Given the description of an element on the screen output the (x, y) to click on. 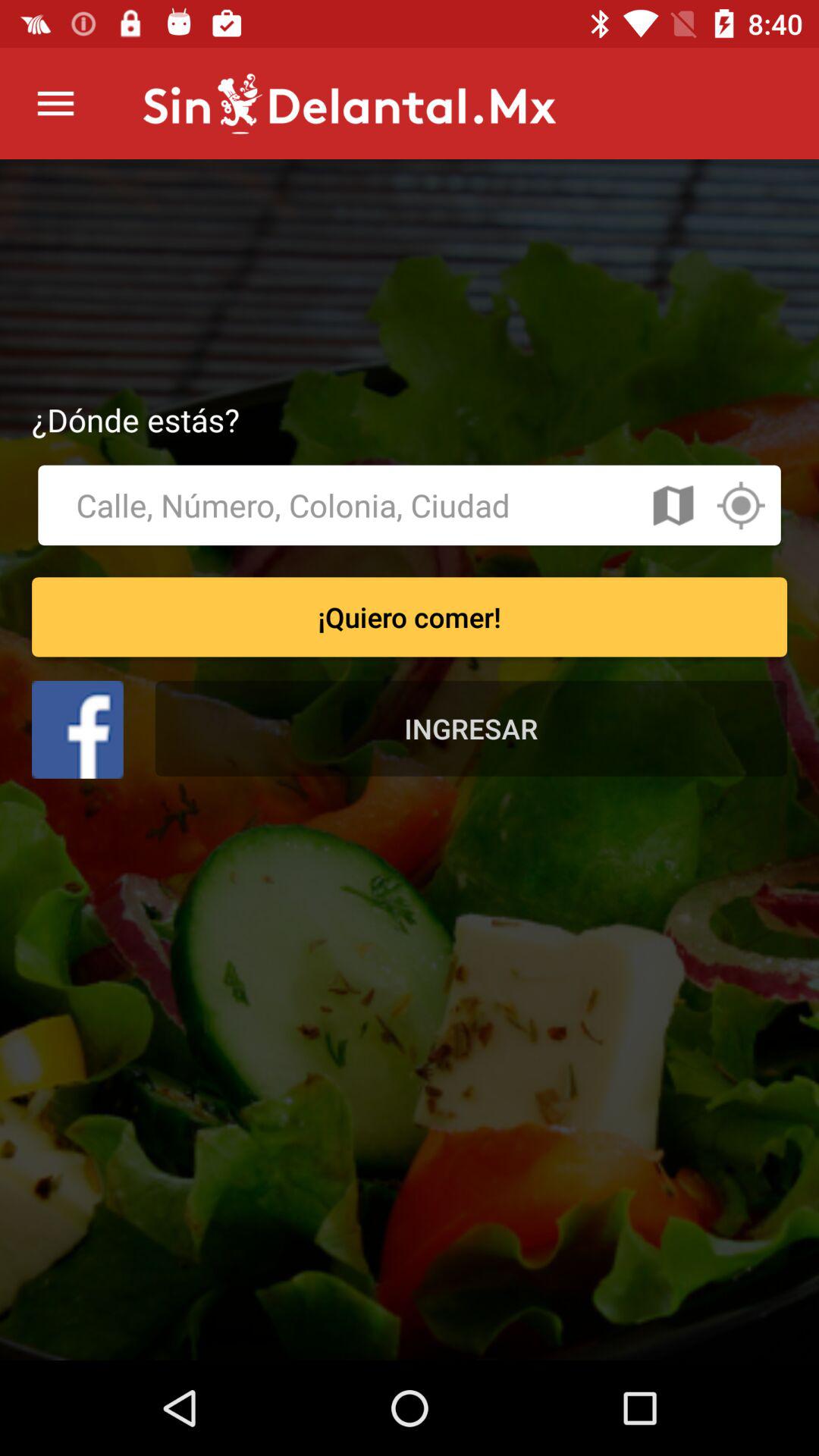
go to location (740, 505)
